Given the description of an element on the screen output the (x, y) to click on. 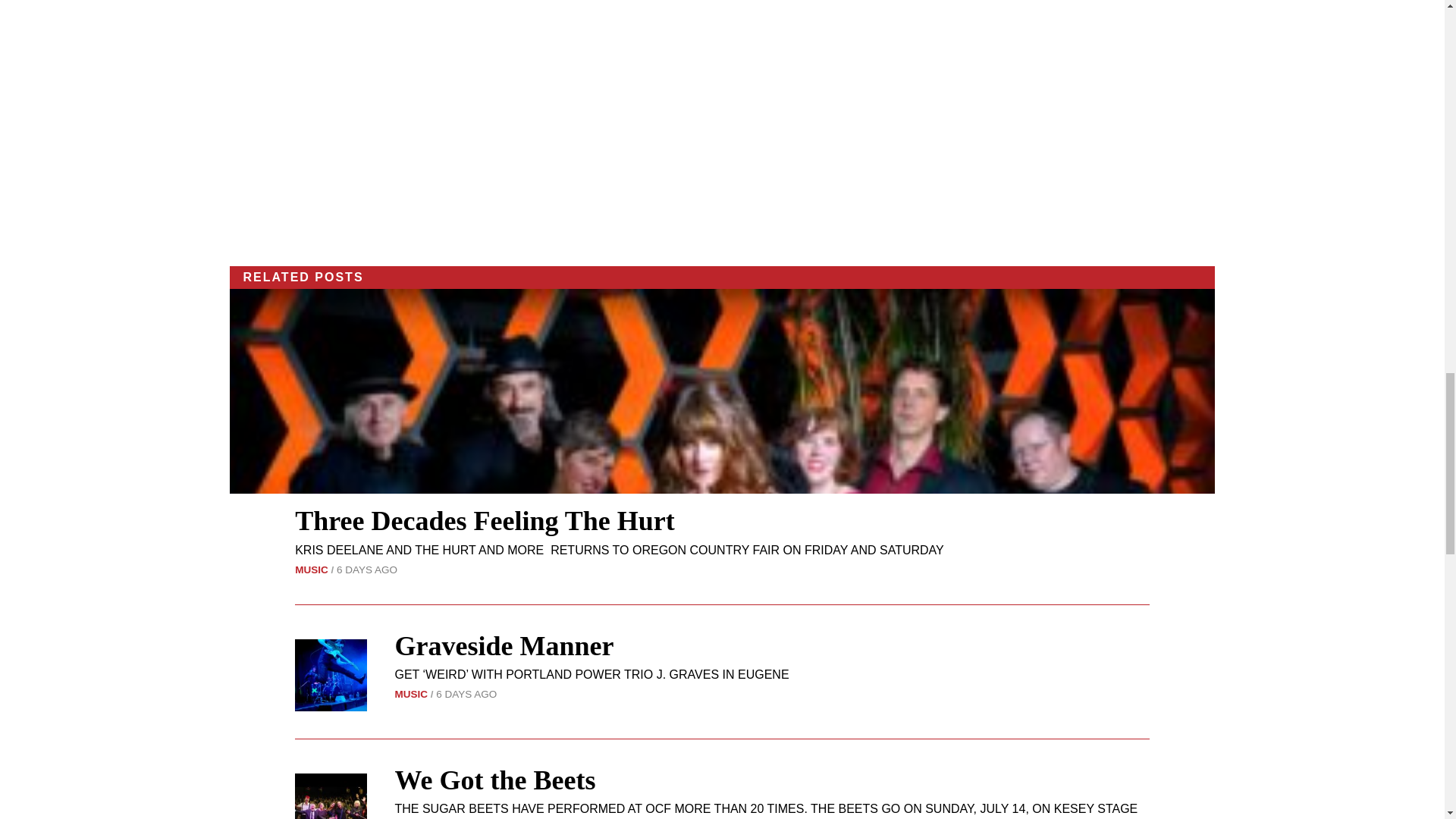
3rd party ad content (721, 122)
